Given the description of an element on the screen output the (x, y) to click on. 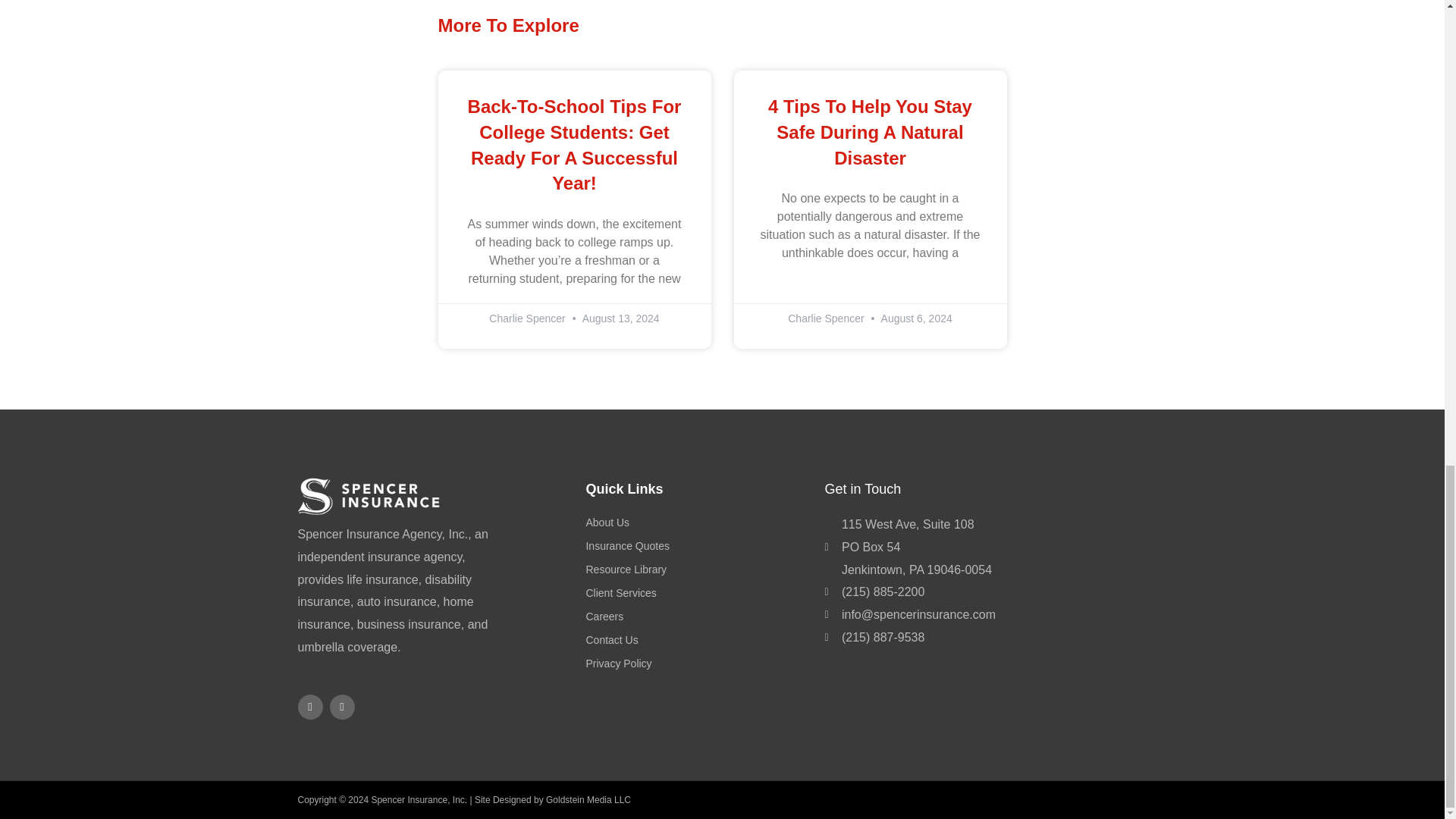
Contact Us (697, 640)
Careers (697, 617)
Facebook-f (309, 706)
Resource Library (697, 569)
4 Tips To Help You Stay Safe During A Natural Disaster (870, 131)
Insurance Quotes (697, 546)
Twitter (341, 706)
About Us (697, 523)
Privacy Policy (697, 664)
